Given the description of an element on the screen output the (x, y) to click on. 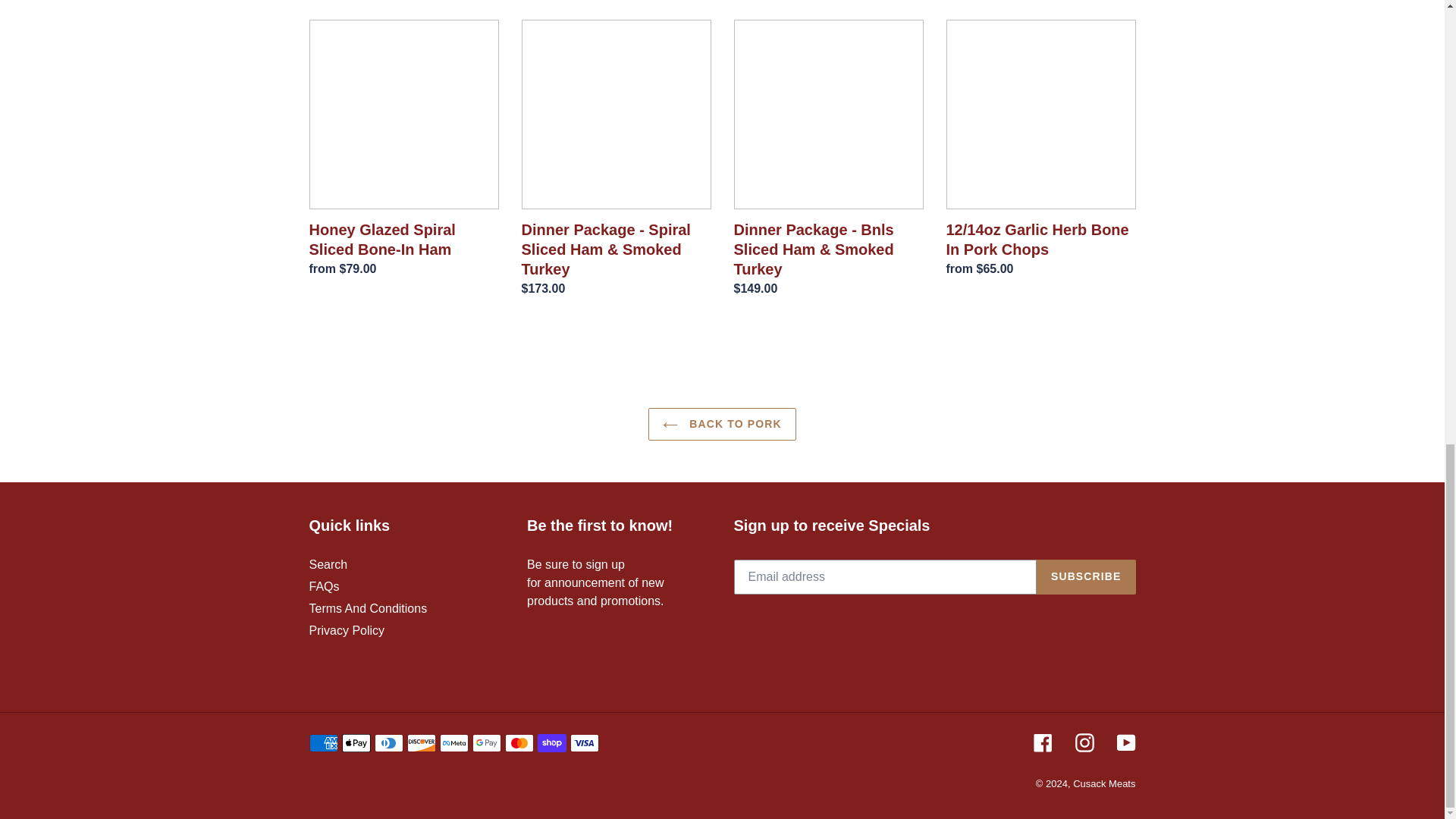
BACK TO PORK (720, 423)
Search (327, 563)
